Given the description of an element on the screen output the (x, y) to click on. 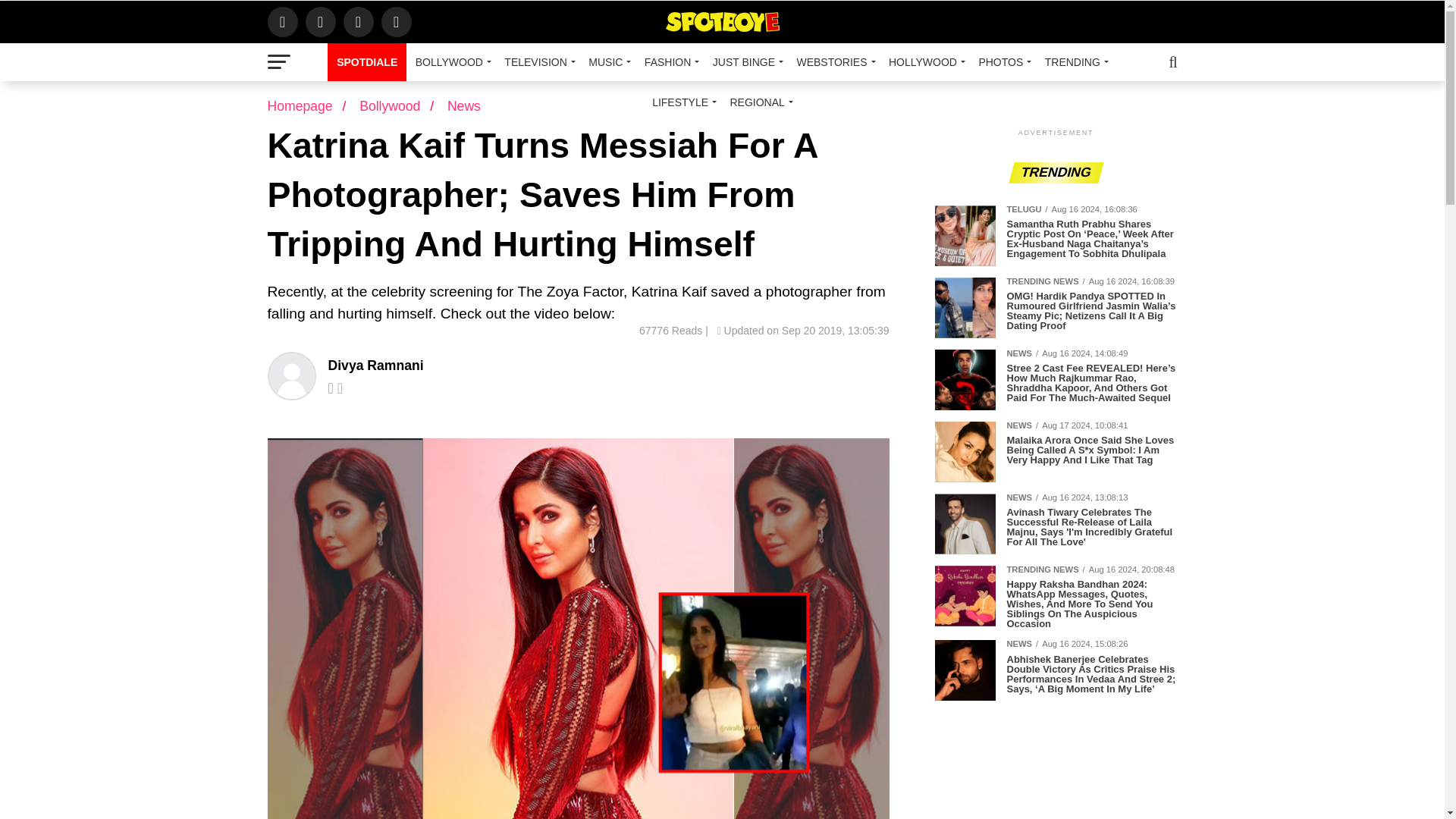
JUST BINGE (745, 62)
REGIONAL (758, 102)
MUSIC (606, 62)
FASHION (668, 62)
TRENDING (1074, 62)
WEBSTORIES (833, 62)
HOLLYWOOD (924, 62)
TELEVISION (537, 62)
SPOTDIALE (366, 62)
LIFESTYLE (681, 102)
